Given the description of an element on the screen output the (x, y) to click on. 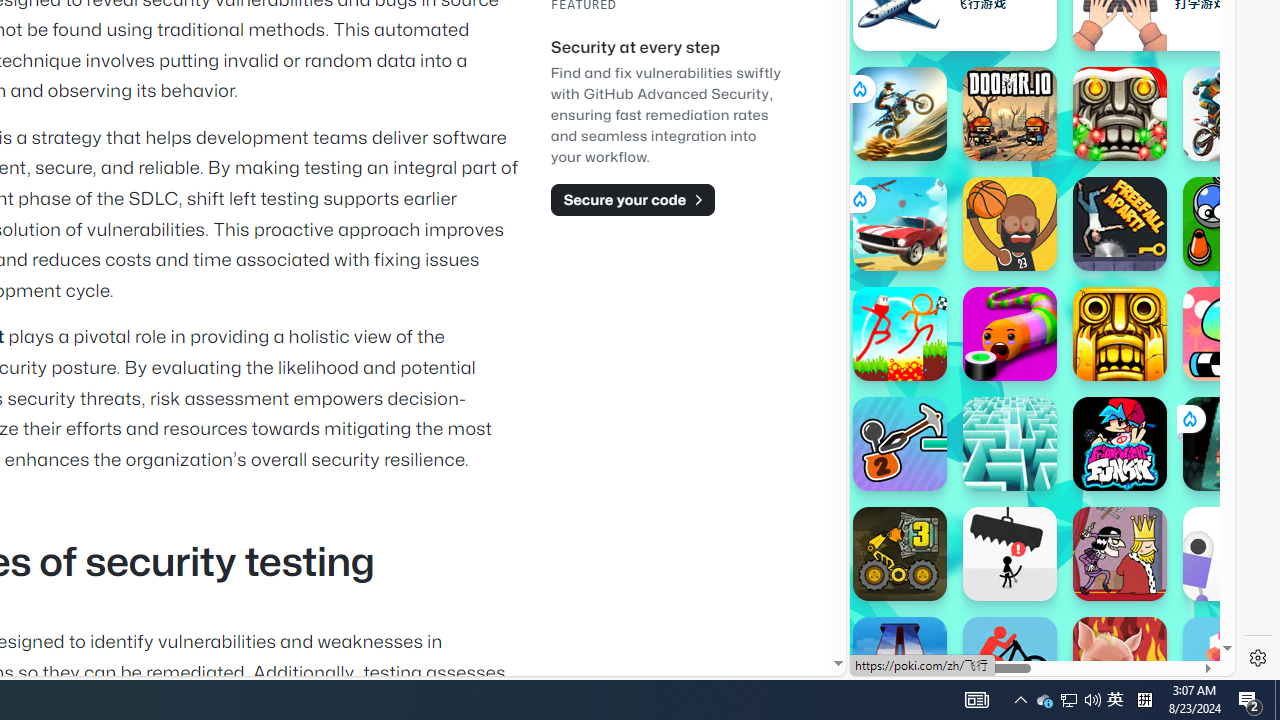
Crazy Cars (1217, 290)
Iron Snout (1119, 664)
Stunt Bike Extreme Stunt Bike Extreme (899, 113)
Class: rCs5cyEiqiTpYvt_VBCR (1189, 418)
SUBWAY SURFERS - Play Online for Free! | Poki (1034, 624)
Maze: Path of Light Maze: Path of Light (1009, 443)
Odd Bot Out Odd Bot Out (1229, 553)
Hills of Steel (943, 200)
Stickman Climb 2 Stickman Climb 2 (899, 443)
poki.com (1092, 338)
Quivershot Quivershot (1229, 443)
Sushi Party Sushi Party (1009, 333)
Stickman Bike (1009, 664)
Maze: Path of Light (1009, 443)
Trial Mania (1229, 113)
